Given the description of an element on the screen output the (x, y) to click on. 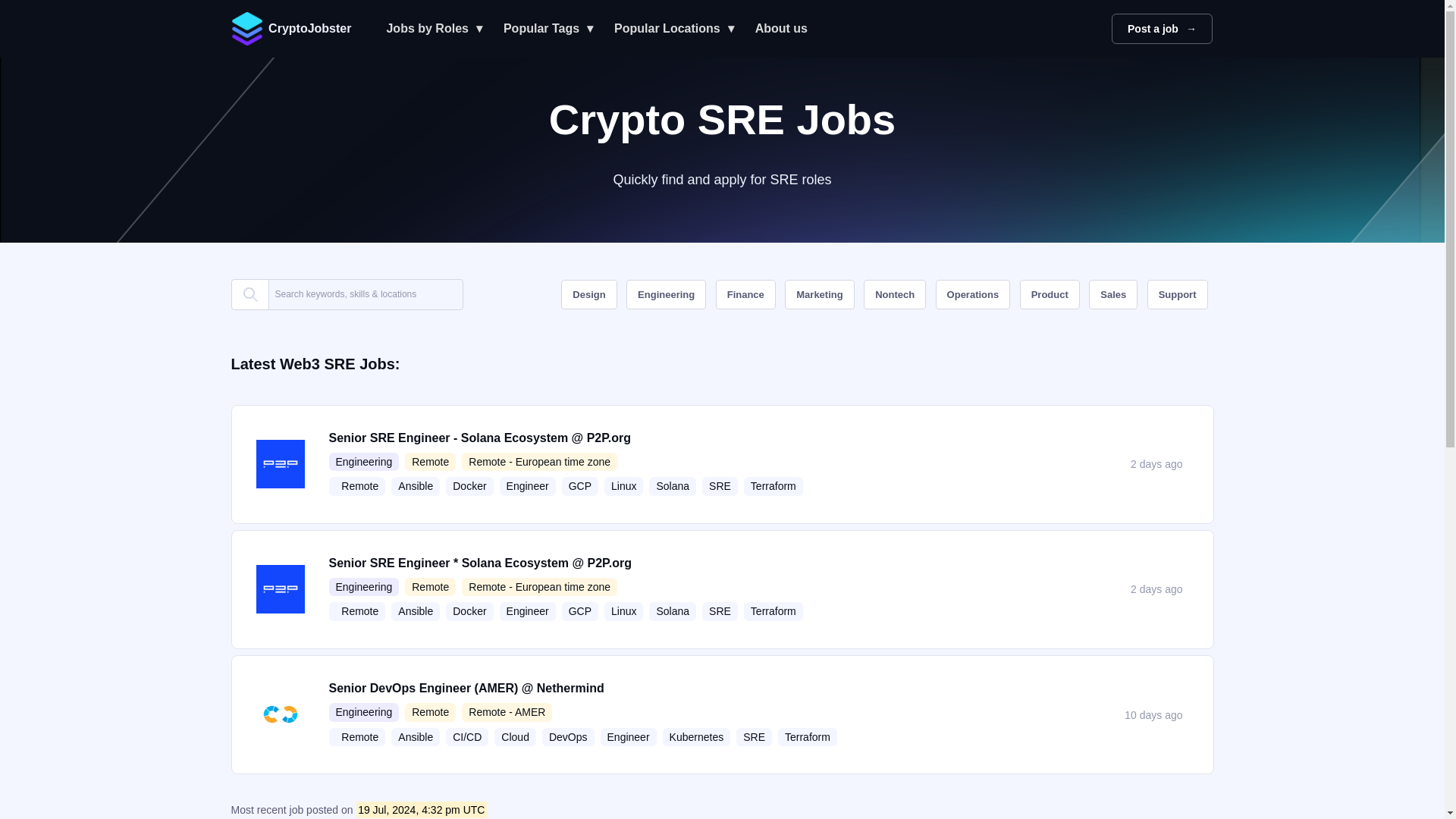
CryptoJobster (296, 28)
